Given the description of an element on the screen output the (x, y) to click on. 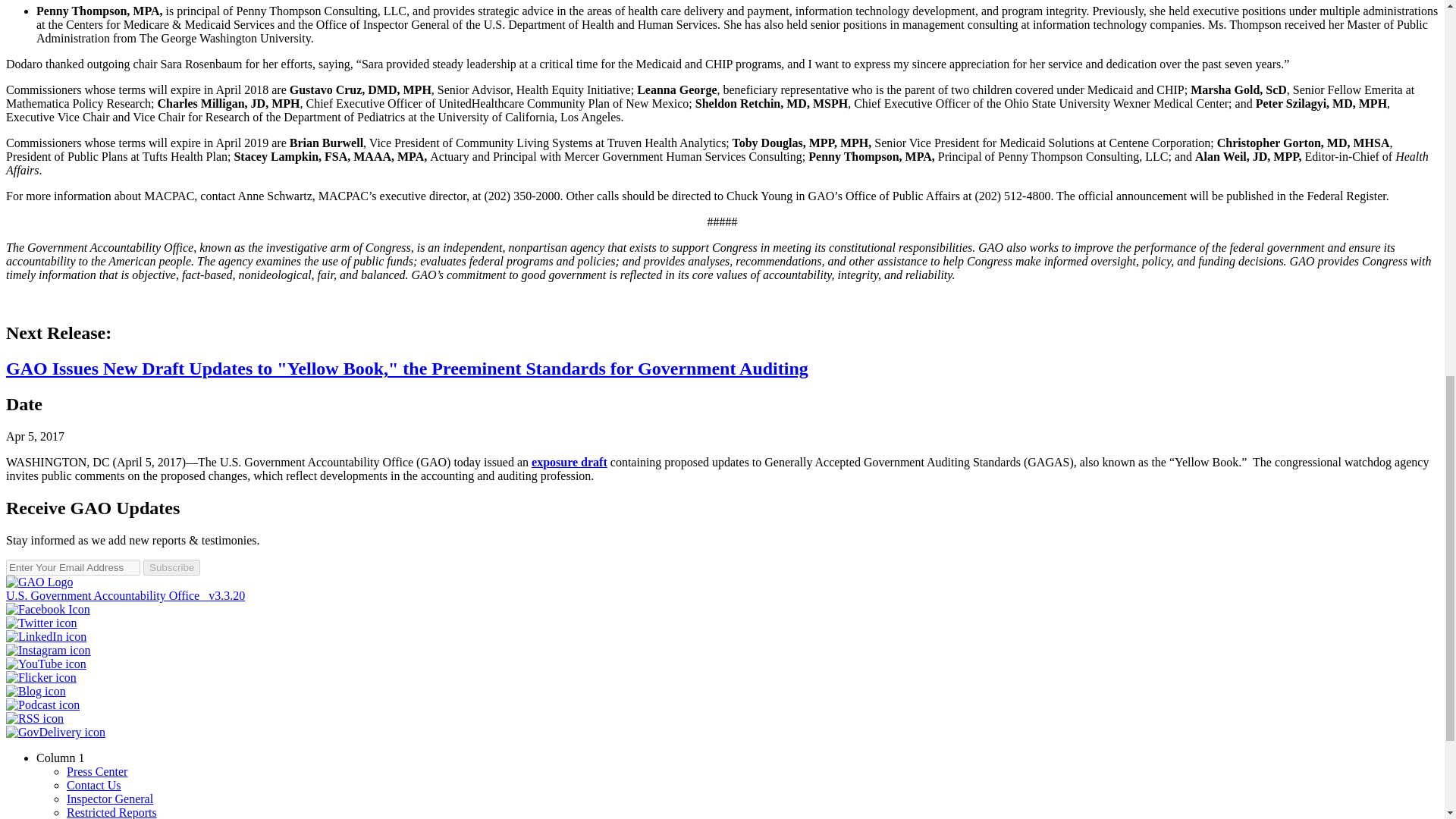
Restricted Reports (111, 812)
Contact Us (93, 784)
Subscribe (171, 567)
Press Center (97, 771)
exposure draft (569, 461)
Subscribe (171, 567)
Inspector General (109, 798)
